Given the description of an element on the screen output the (x, y) to click on. 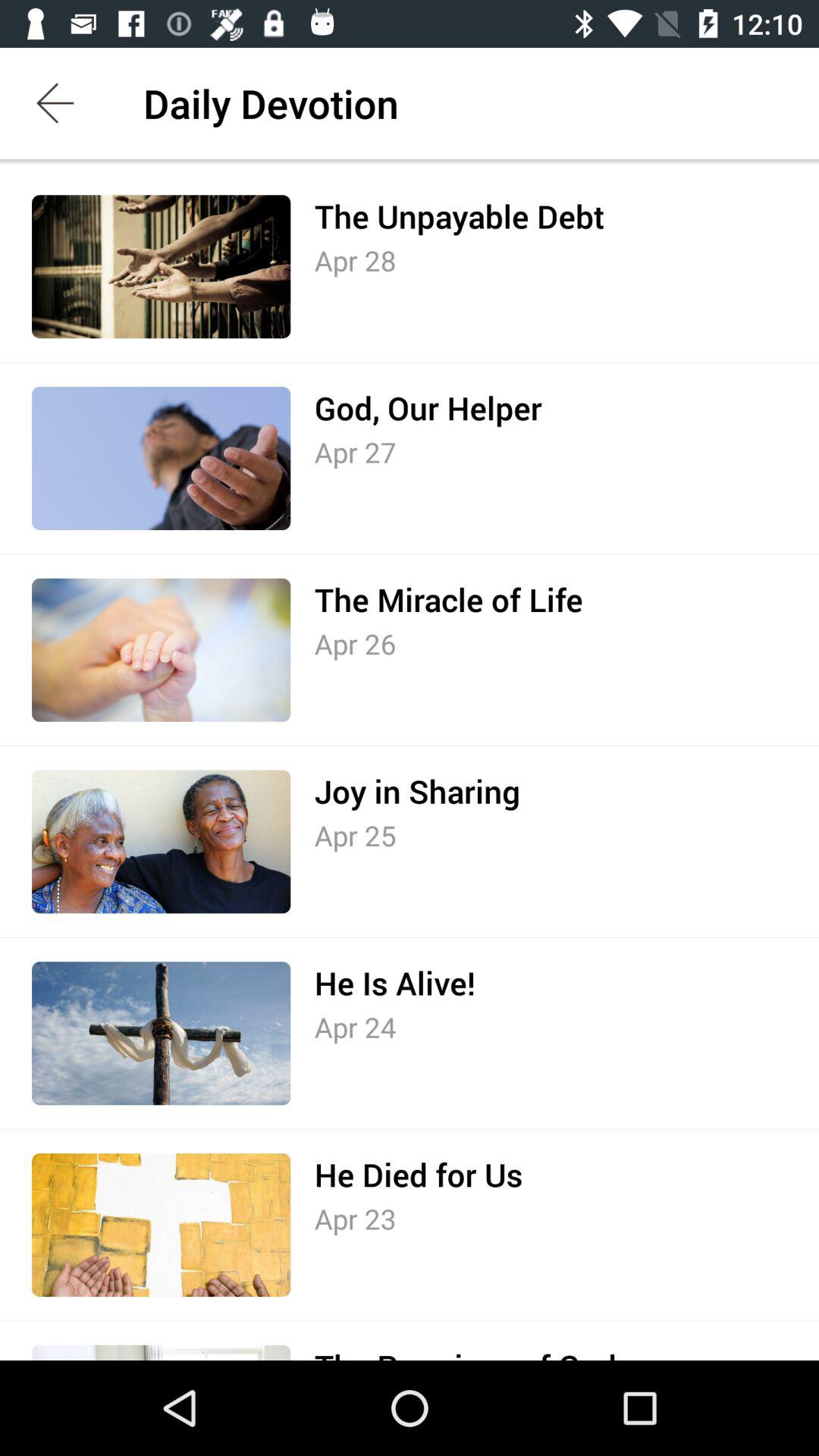
launch the apr 28 item (355, 260)
